Given the description of an element on the screen output the (x, y) to click on. 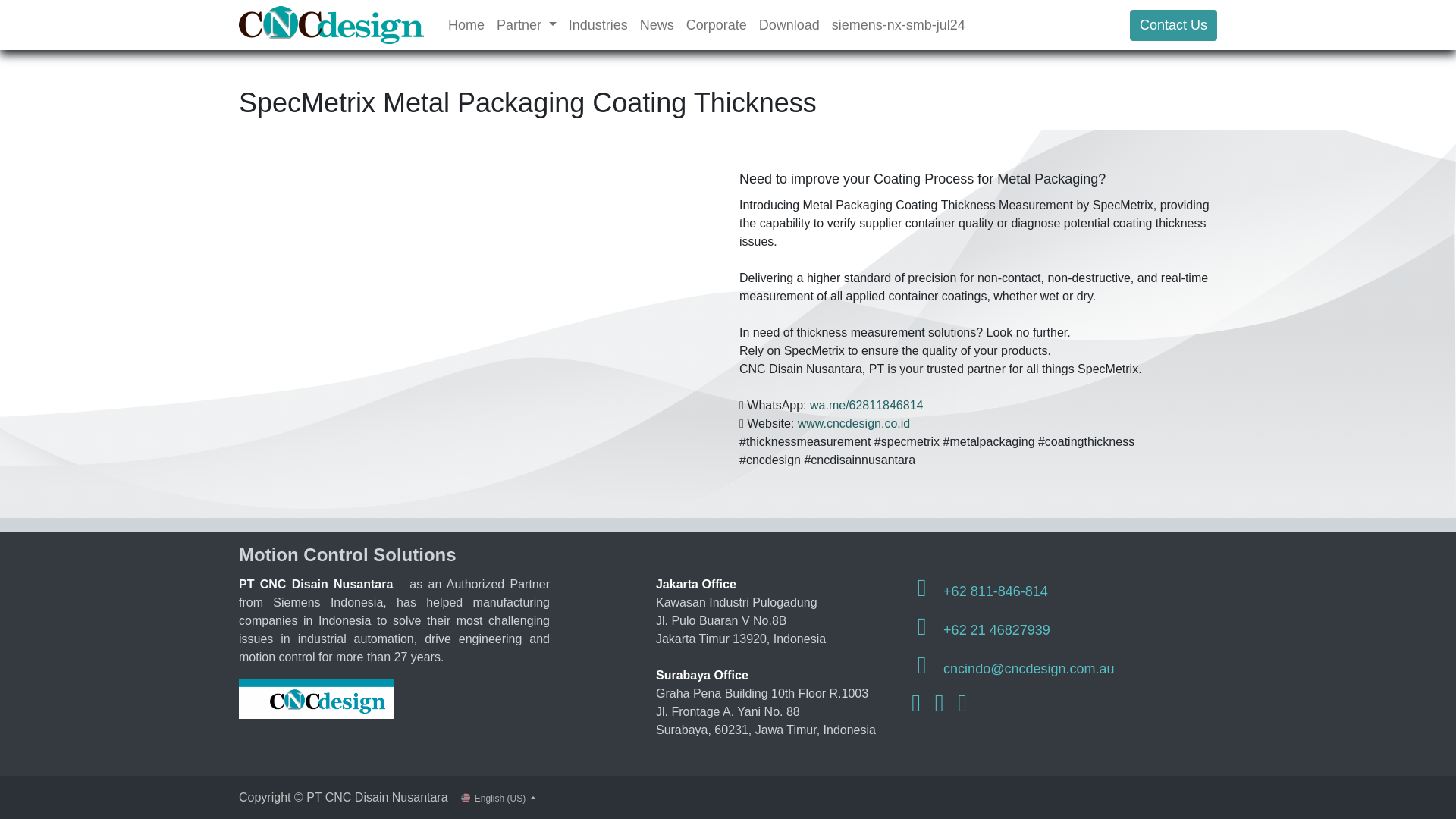
Partner (526, 25)
Contact Us (1173, 24)
News (656, 25)
siemens-nx-smb-jul24 (898, 25)
Download (788, 25)
CNC Design (330, 24)
Home (466, 25)
Corporate (715, 25)
Industries (597, 25)
www.cncdesign.co.id (854, 422)
cnc design (316, 698)
